Given the description of an element on the screen output the (x, y) to click on. 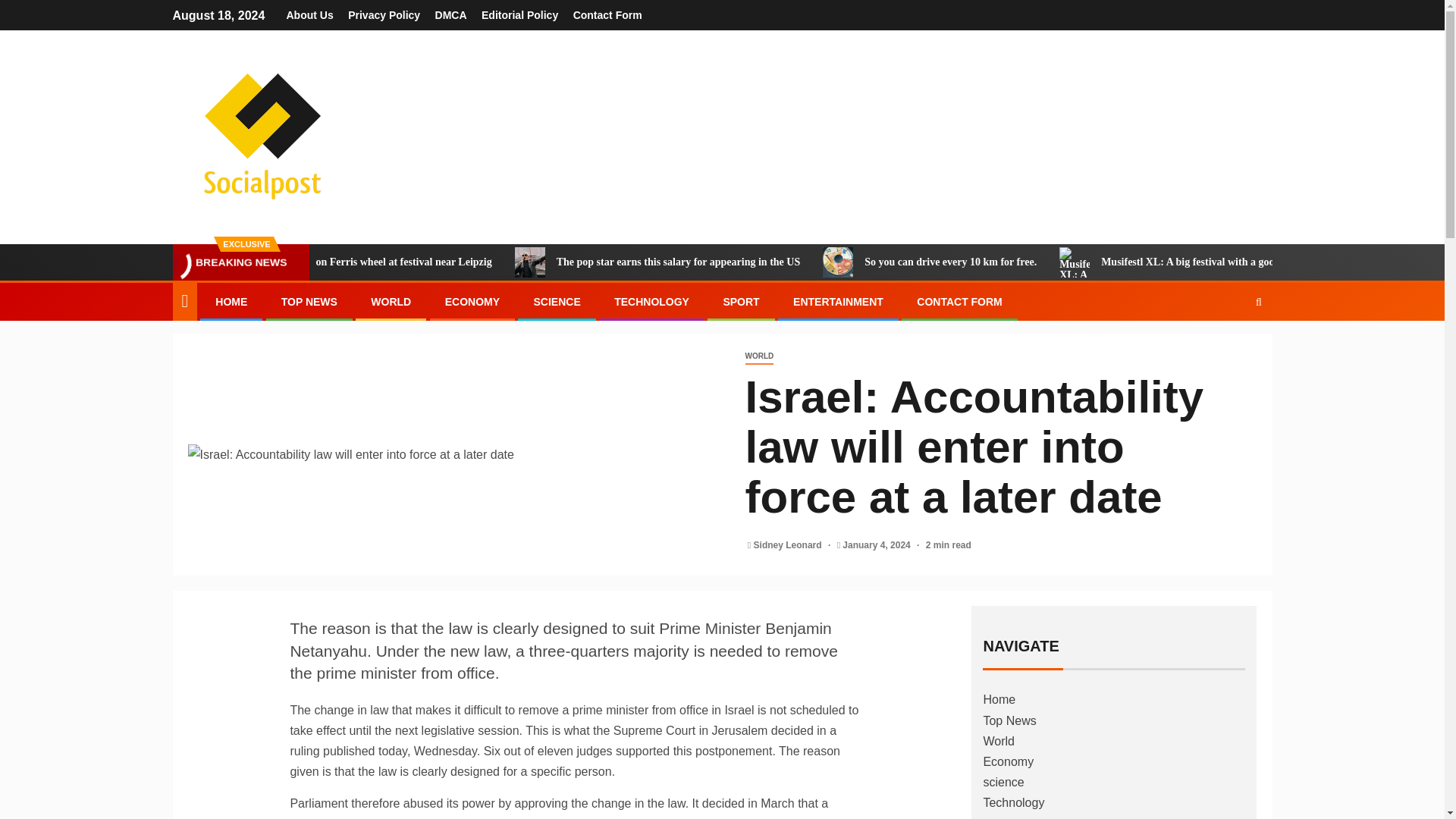
TOP NEWS (309, 301)
Privacy Policy (383, 15)
HOME (231, 301)
So you can drive every 10 km for free. (1056, 262)
TECHNOLOGY (651, 301)
WORLD (758, 356)
ECONOMY (472, 301)
About Us (309, 15)
SPORT (740, 301)
SCIENCE (555, 301)
